Given the description of an element on the screen output the (x, y) to click on. 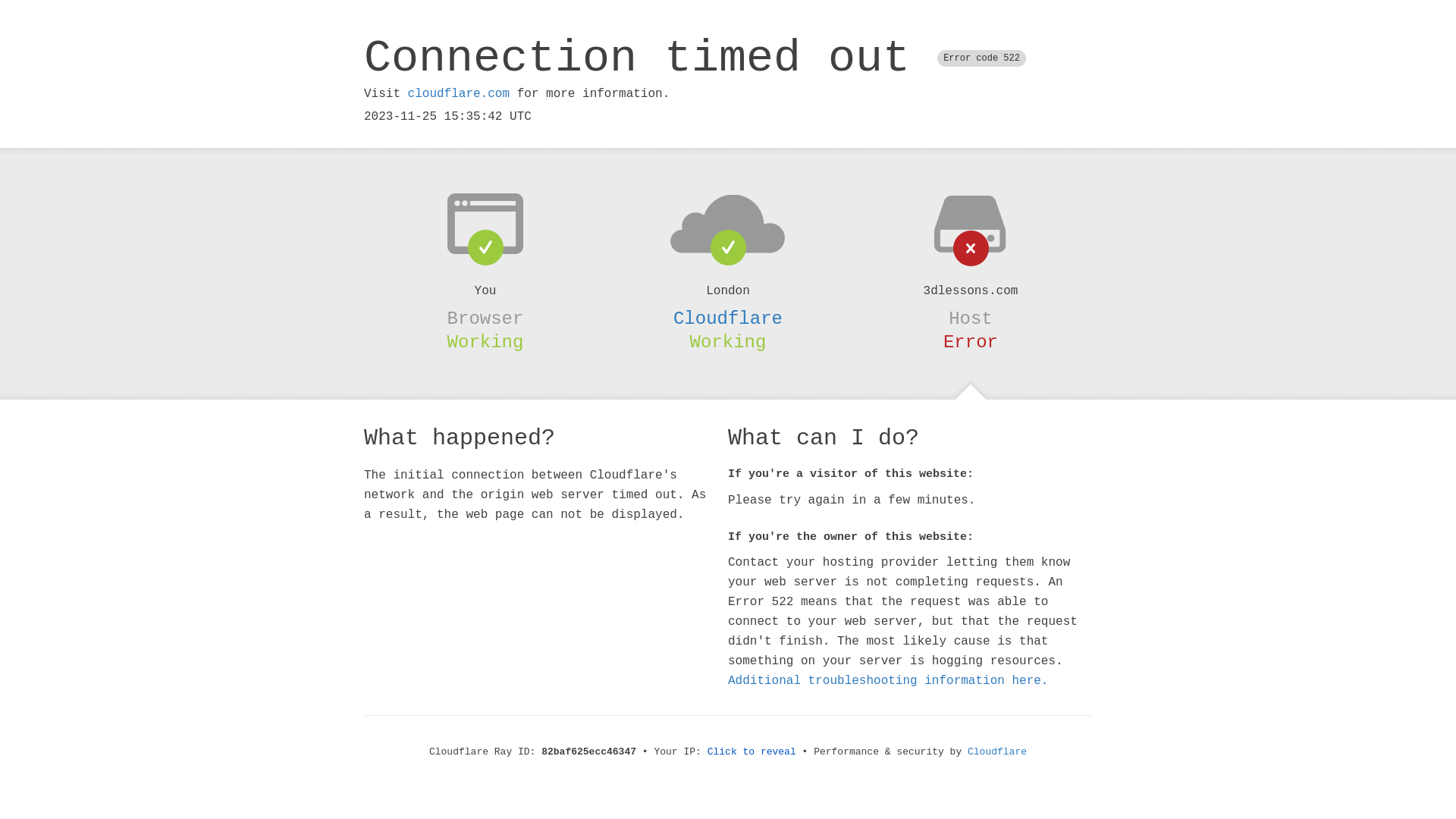
Additional troubleshooting information here. Element type: text (888, 680)
cloudflare.com Element type: text (458, 93)
Click to reveal Element type: text (751, 751)
Cloudflare Element type: text (996, 751)
Cloudflare Element type: text (727, 318)
